Given the description of an element on the screen output the (x, y) to click on. 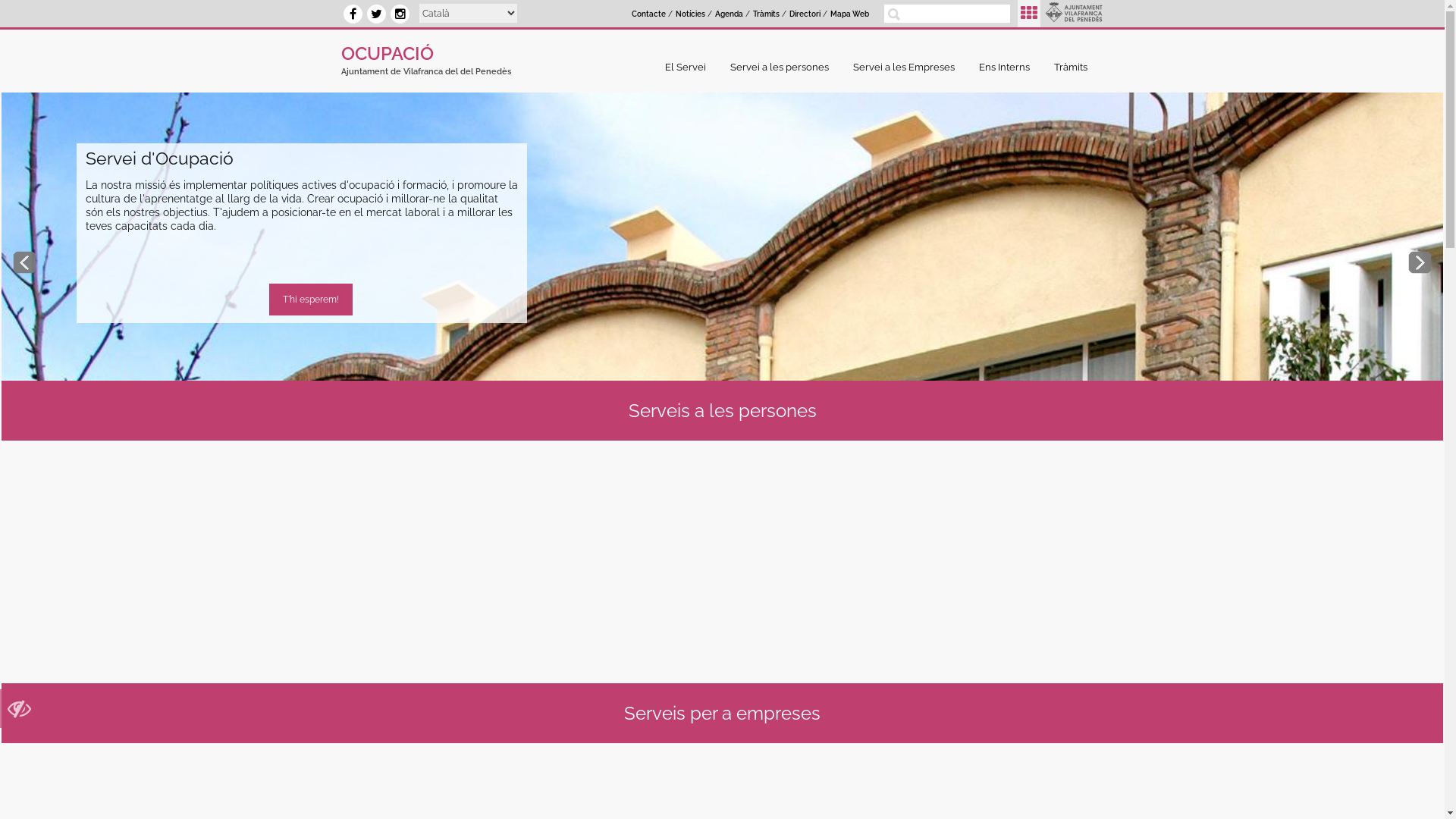
Contacte Element type: text (648, 14)
Ens Interns Element type: text (1008, 66)
Servei a les persones Element type: text (783, 66)
El Servei Element type: text (689, 66)
Anterior Element type: text (24, 262)
Mapa Web Element type: text (849, 14)
T'hi esperem! Element type: text (310, 299)
Directori Element type: text (804, 14)
Agenda Element type: text (729, 14)
Servei a les Empreses Element type: text (907, 66)
Accessibilitat Element type: hover (19, 712)
